Given the description of an element on the screen output the (x, y) to click on. 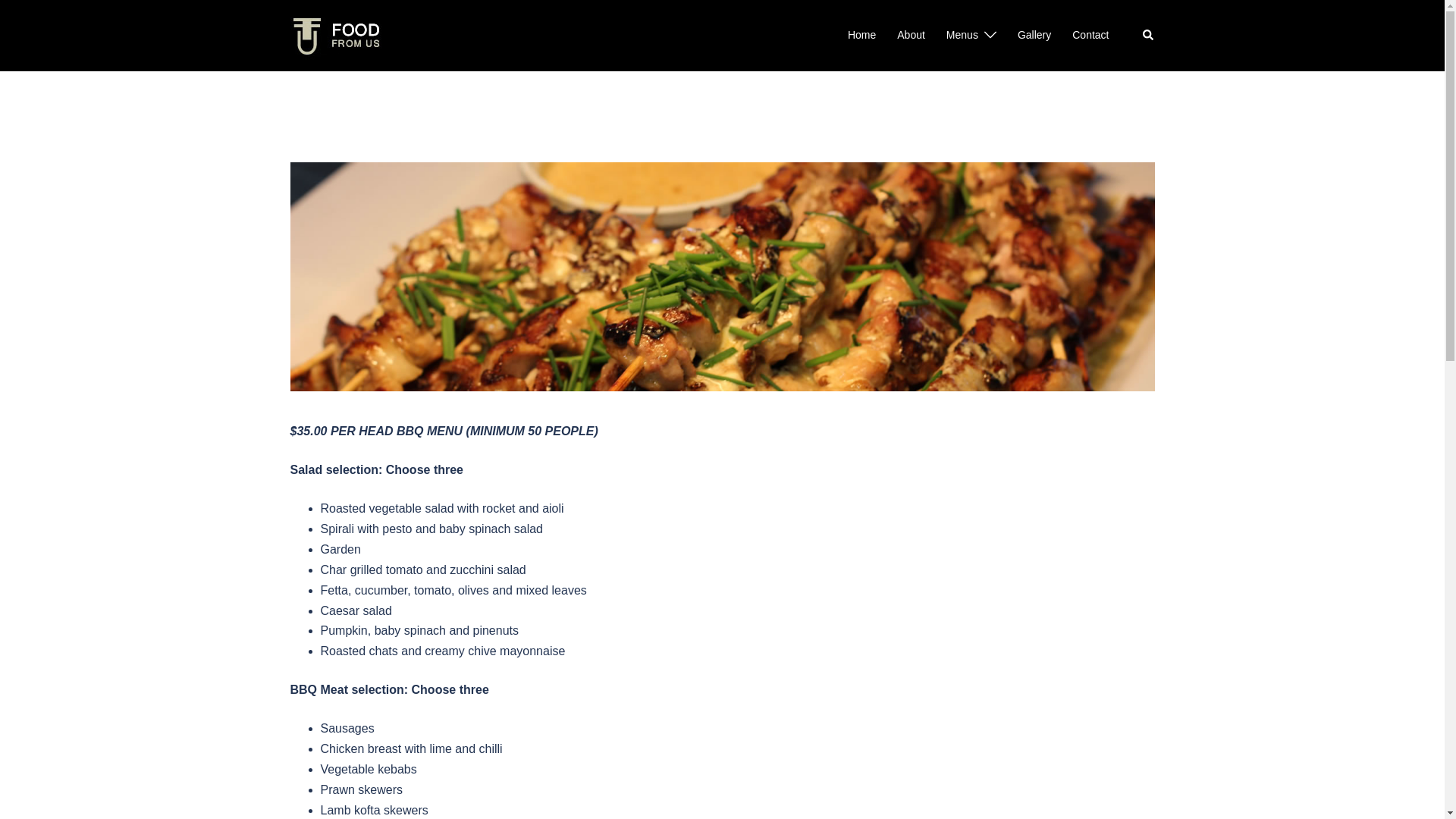
About Element type: text (911, 35)
Search Element type: text (1148, 35)
Contact Element type: text (1090, 35)
Home Element type: text (861, 35)
Food From Us Element type: hover (335, 34)
Menus Element type: text (962, 35)
Gallery Element type: text (1034, 35)
